Given the description of an element on the screen output the (x, y) to click on. 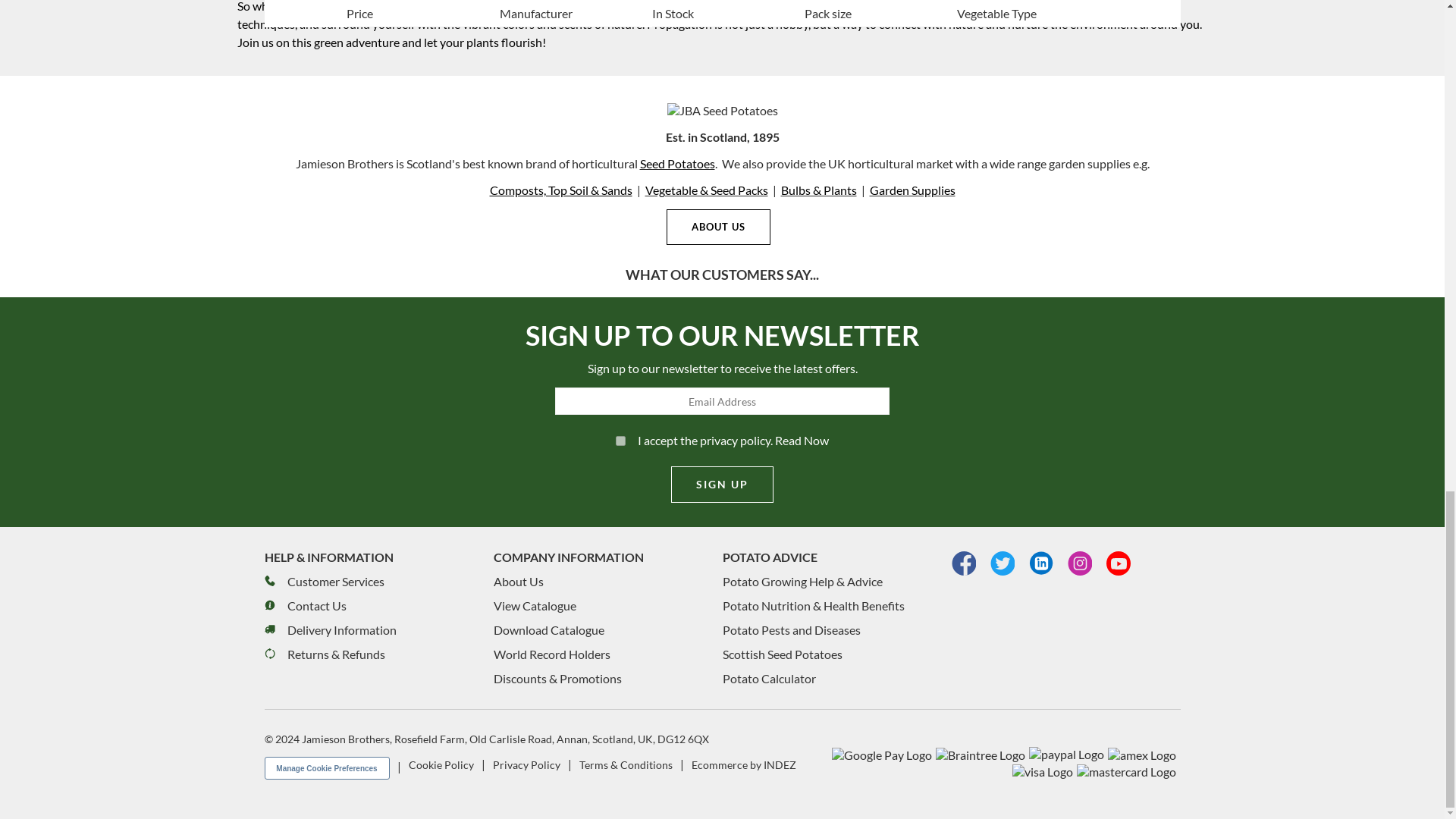
on (620, 439)
